Given the description of an element on the screen output the (x, y) to click on. 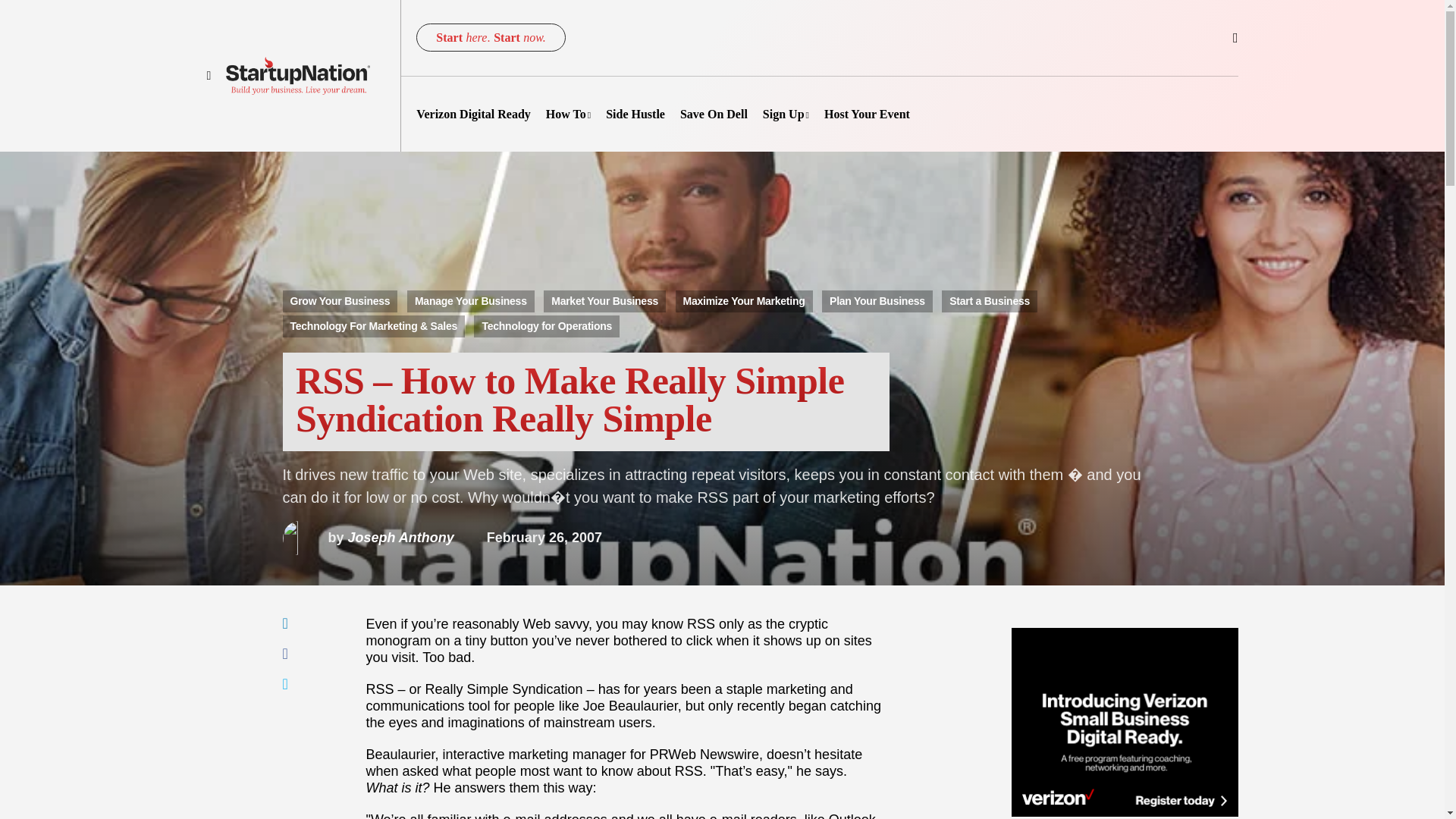
View all posts by Joseph Anthony (367, 537)
